Given the description of an element on the screen output the (x, y) to click on. 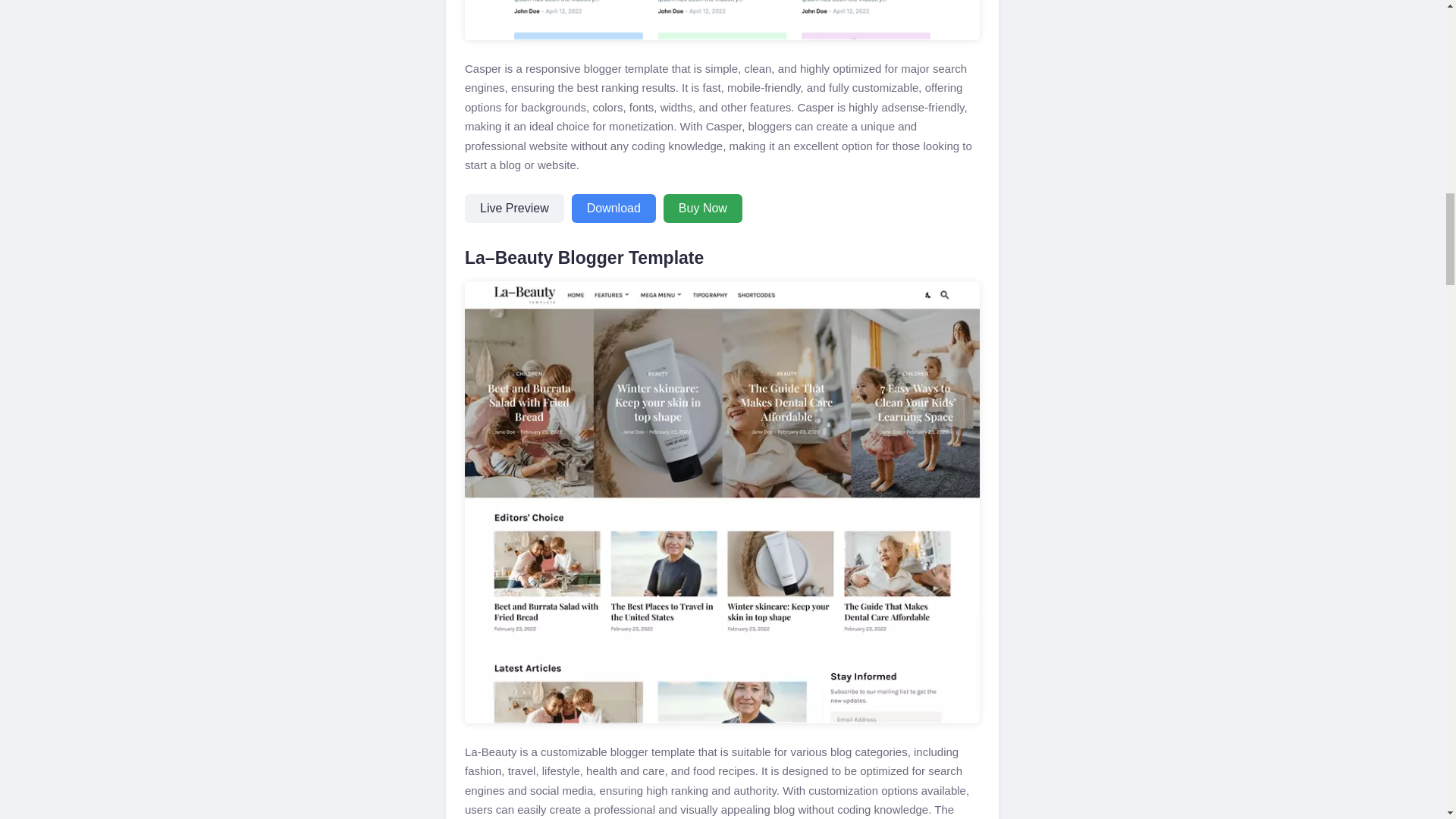
Casper Blogger Template (721, 20)
Download (614, 208)
Buy Now (702, 208)
Live Preview (514, 208)
